Given the description of an element on the screen output the (x, y) to click on. 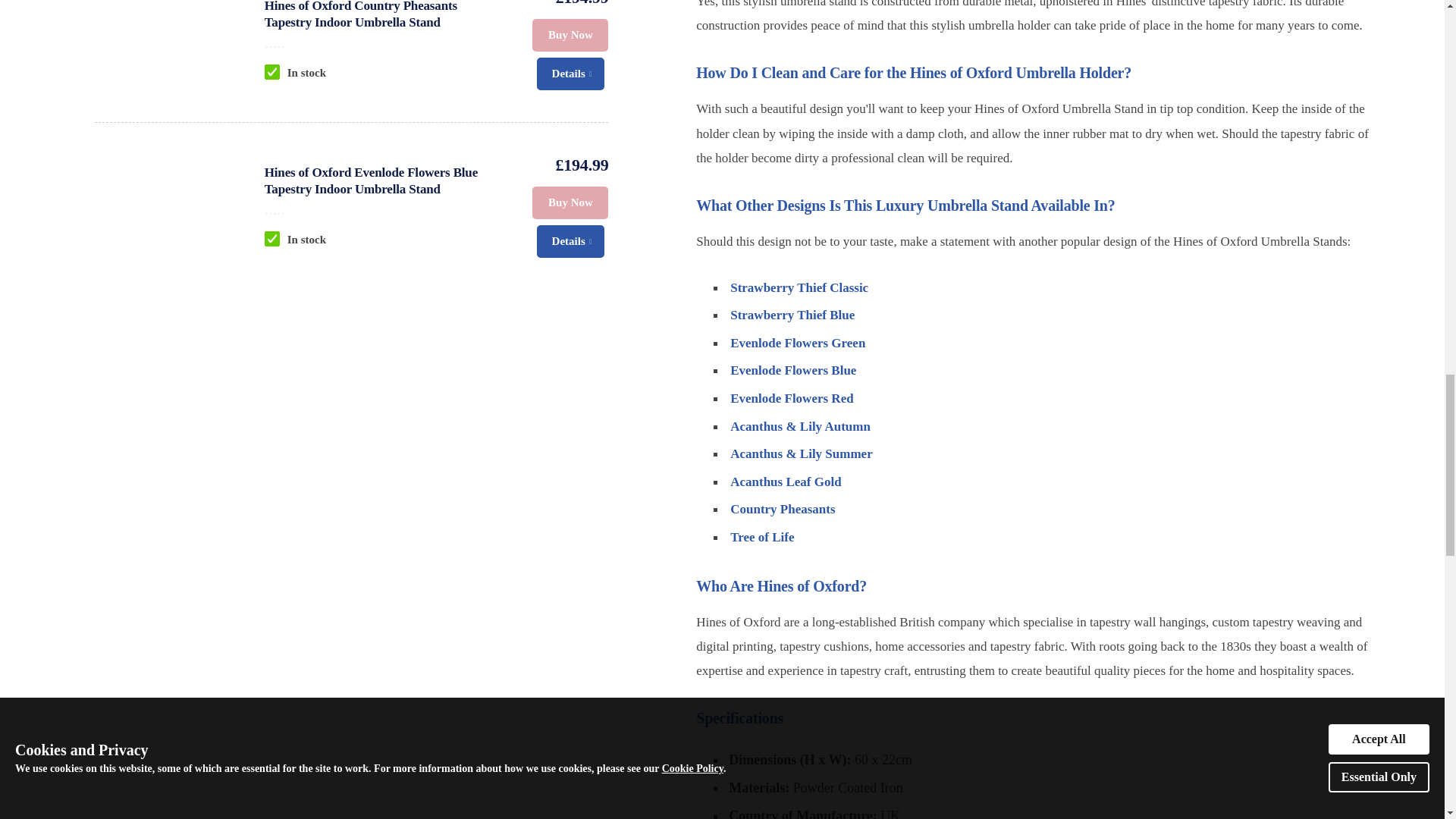
Add to Basket (570, 202)
Not yet reviewed (383, 208)
Not yet reviewed (383, 41)
Add to Basket (570, 34)
